Given the description of an element on the screen output the (x, y) to click on. 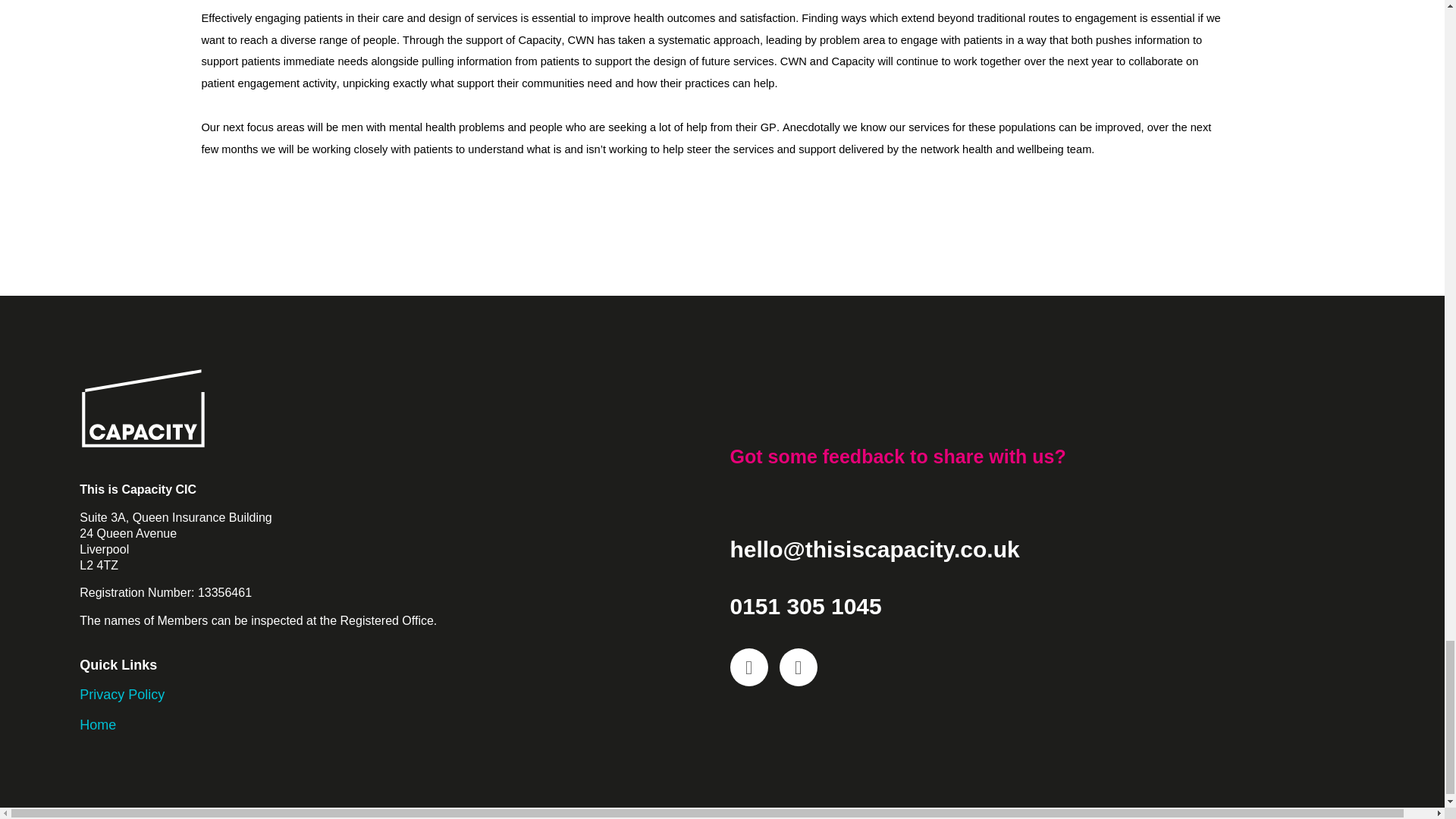
Privacy Policy (122, 694)
Got some feedback to share with us? (897, 455)
Home (98, 724)
